Given the description of an element on the screen output the (x, y) to click on. 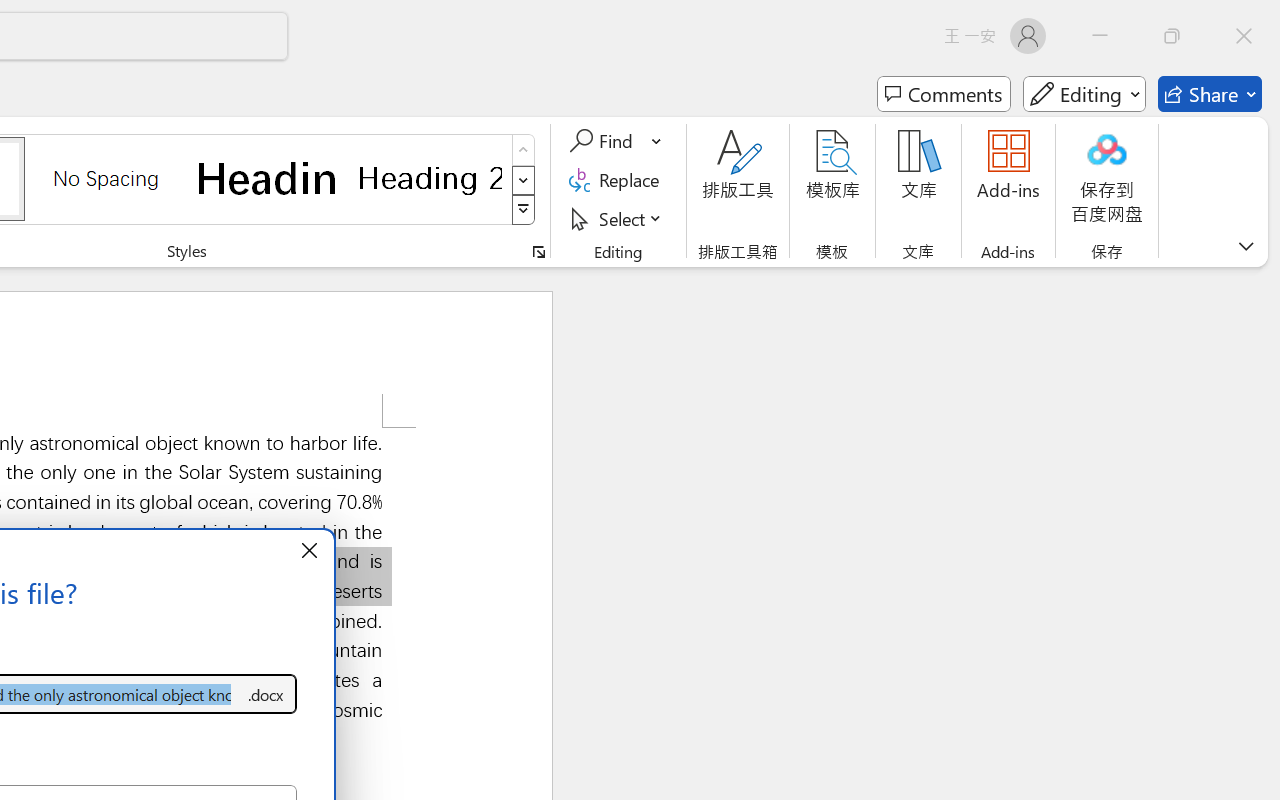
Line up (1267, 279)
Replace... (617, 179)
Styles (523, 209)
Styles... (538, 252)
Select (618, 218)
Row Down (523, 180)
Save as type (265, 694)
